Given the description of an element on the screen output the (x, y) to click on. 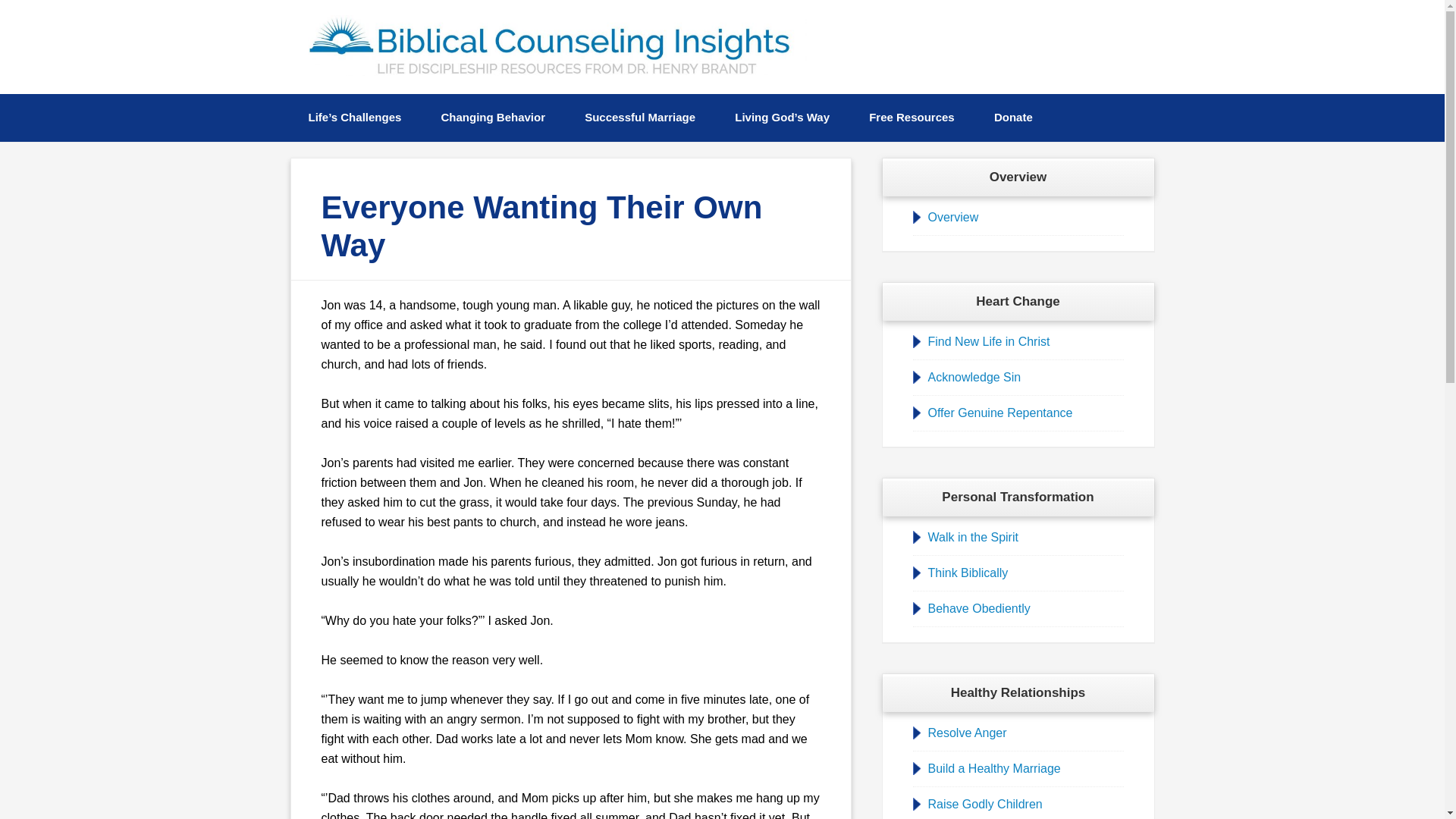
Biblical Counseling Insights (551, 45)
Changing Behavior (492, 117)
Successful Marriage (639, 117)
